Given the description of an element on the screen output the (x, y) to click on. 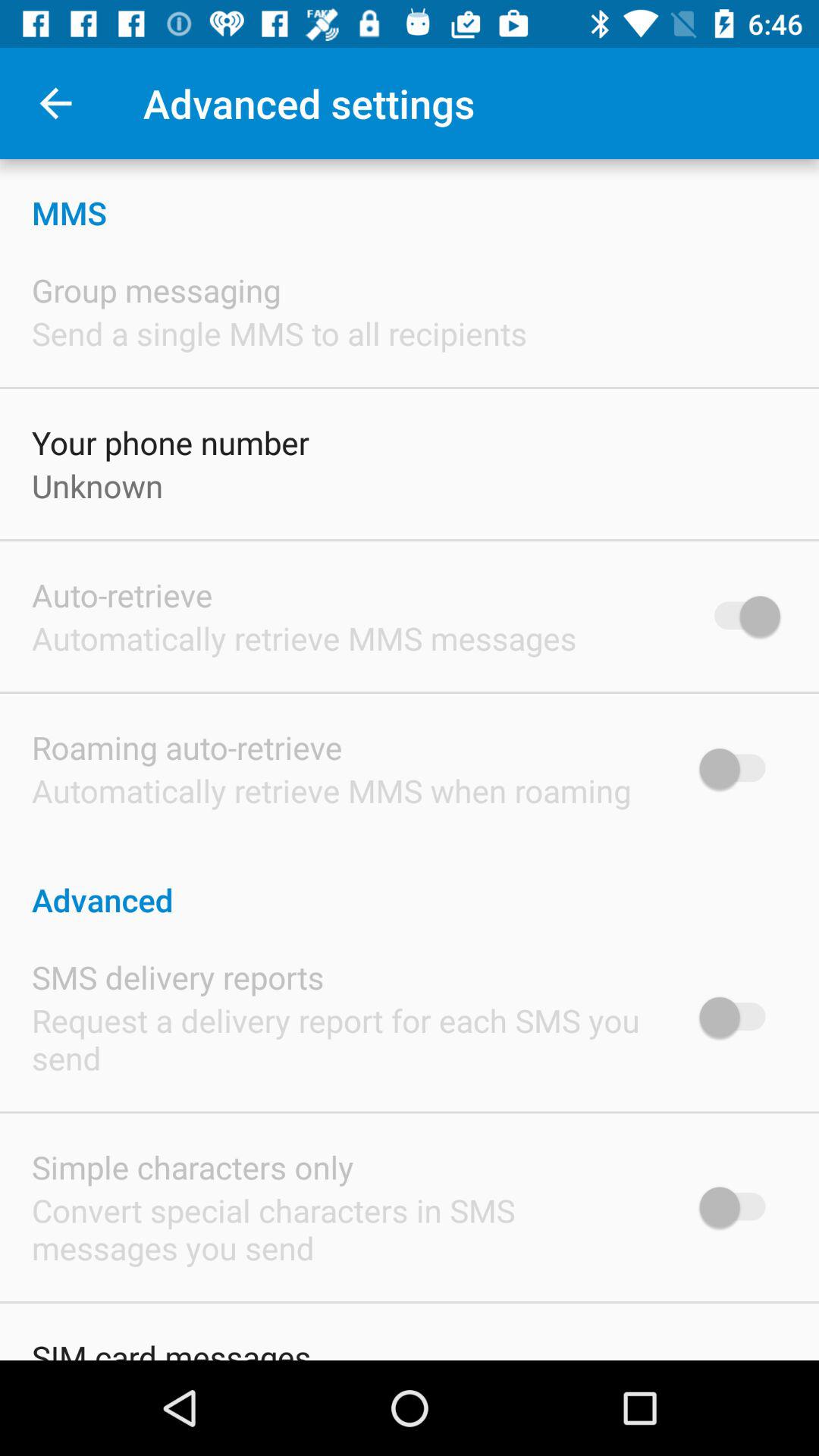
flip until group messaging (155, 289)
